Given the description of an element on the screen output the (x, y) to click on. 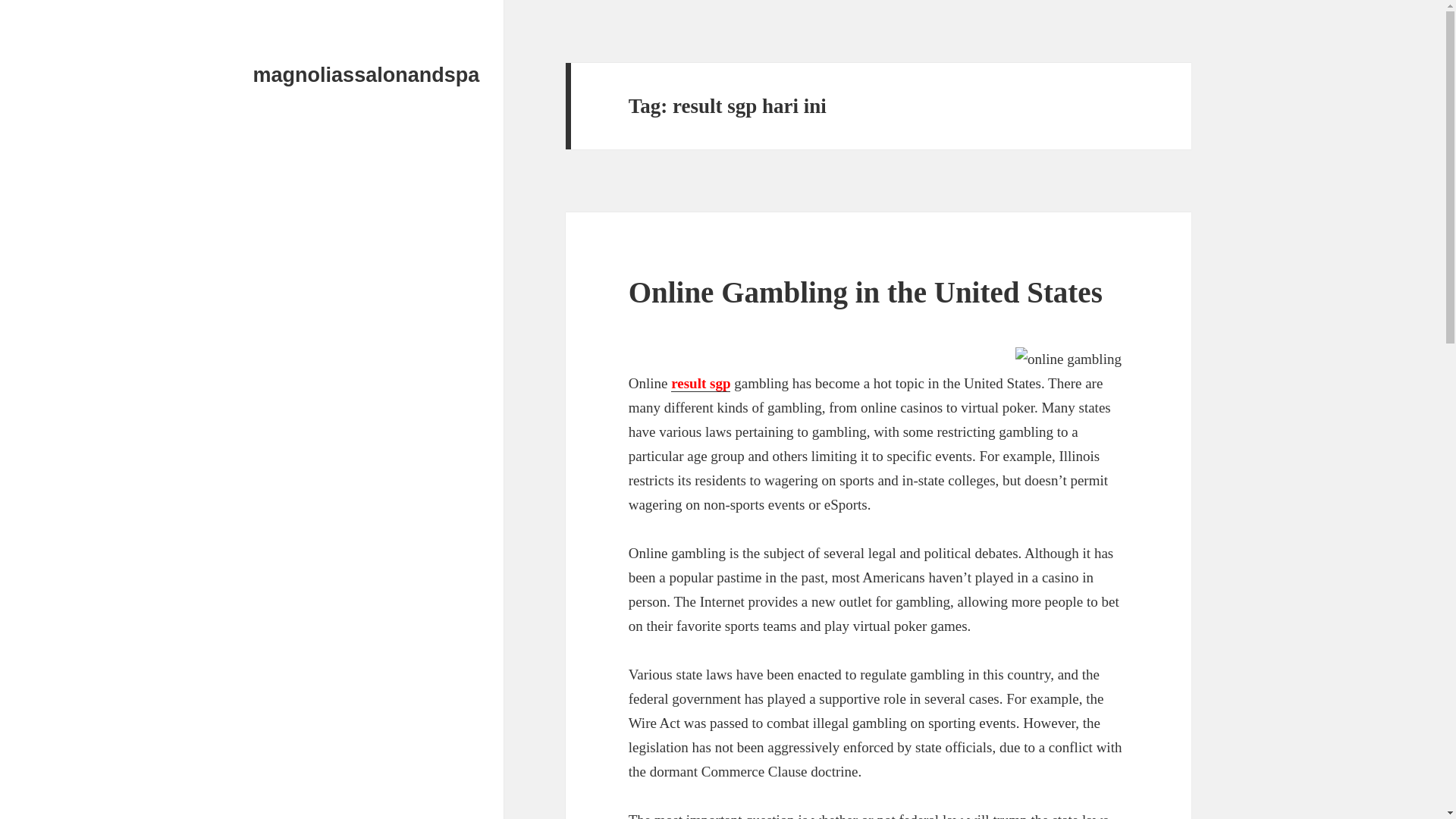
Online Gambling in the United States (865, 292)
result sgp (700, 383)
magnoliassalonandspa (366, 74)
